Given the description of an element on the screen output the (x, y) to click on. 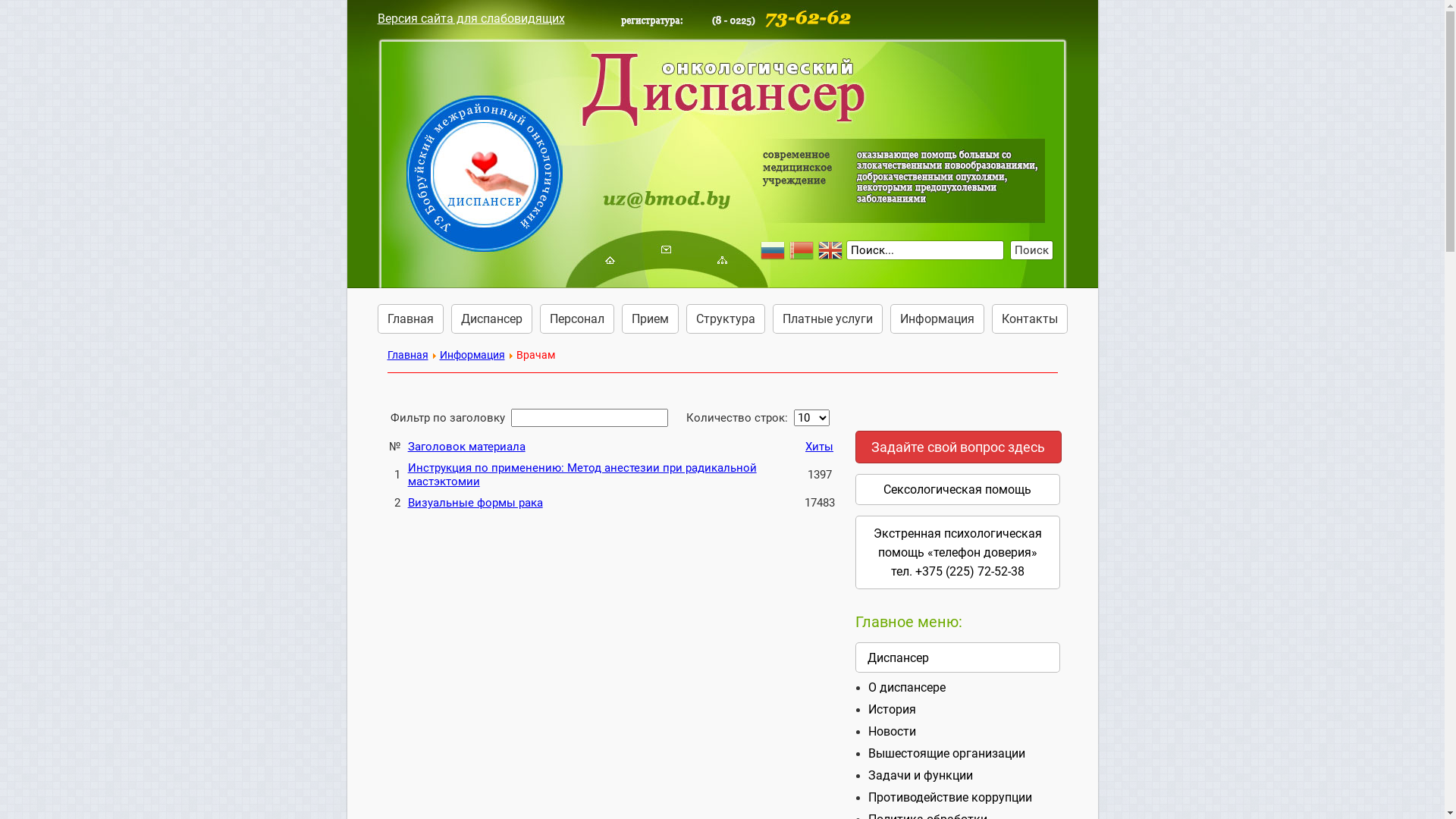
  Element type: text (608, 258)
  Element type: text (666, 129)
  Element type: text (720, 258)
English Element type: hover (831, 250)
Russian Element type: hover (773, 250)
Belarusian Element type: hover (802, 250)
  Element type: text (664, 249)
